Given the description of an element on the screen output the (x, y) to click on. 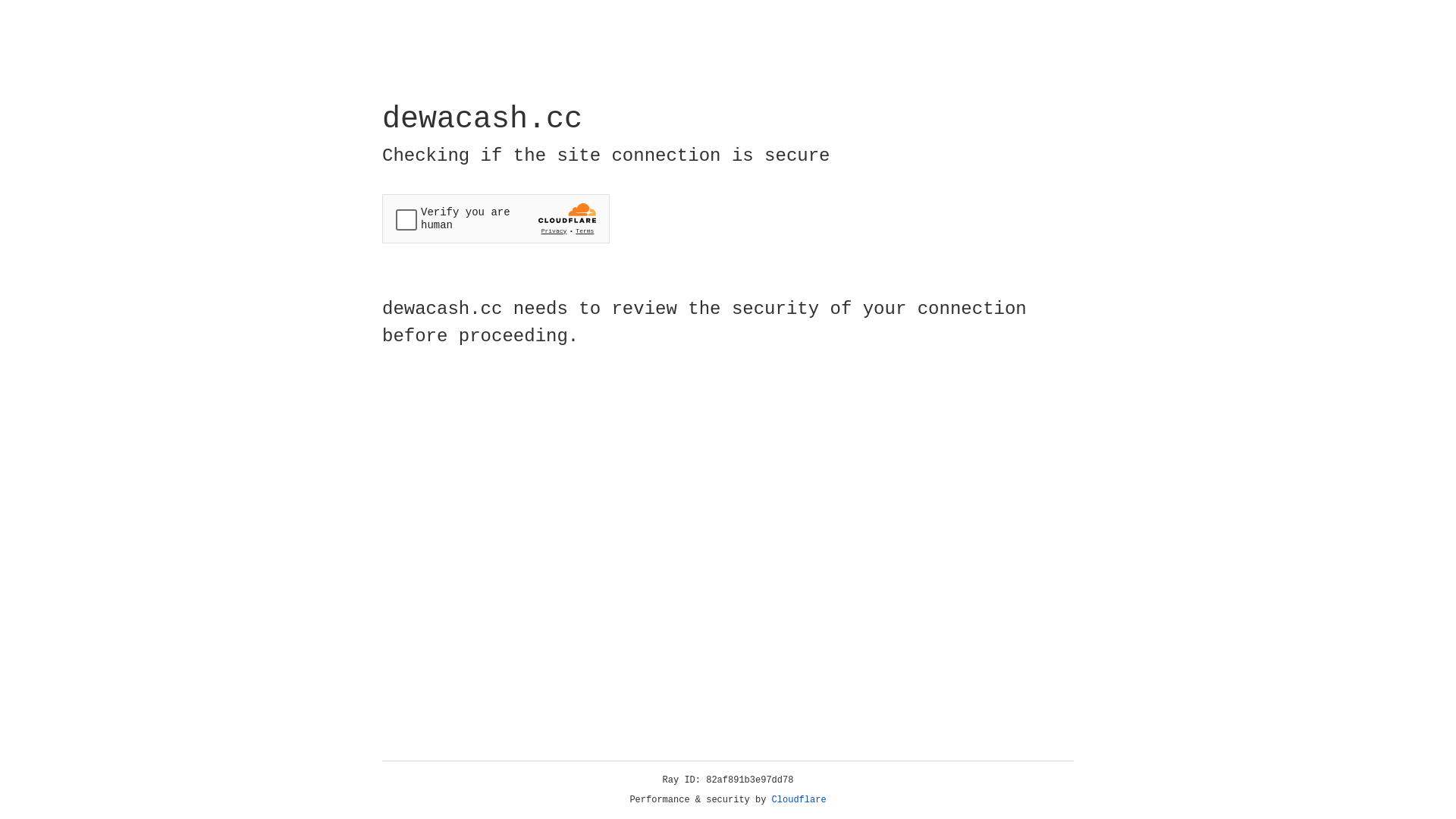
Widget containing a Cloudflare security challenge Element type: hover (495, 218)
Cloudflare Element type: text (798, 799)
